Given the description of an element on the screen output the (x, y) to click on. 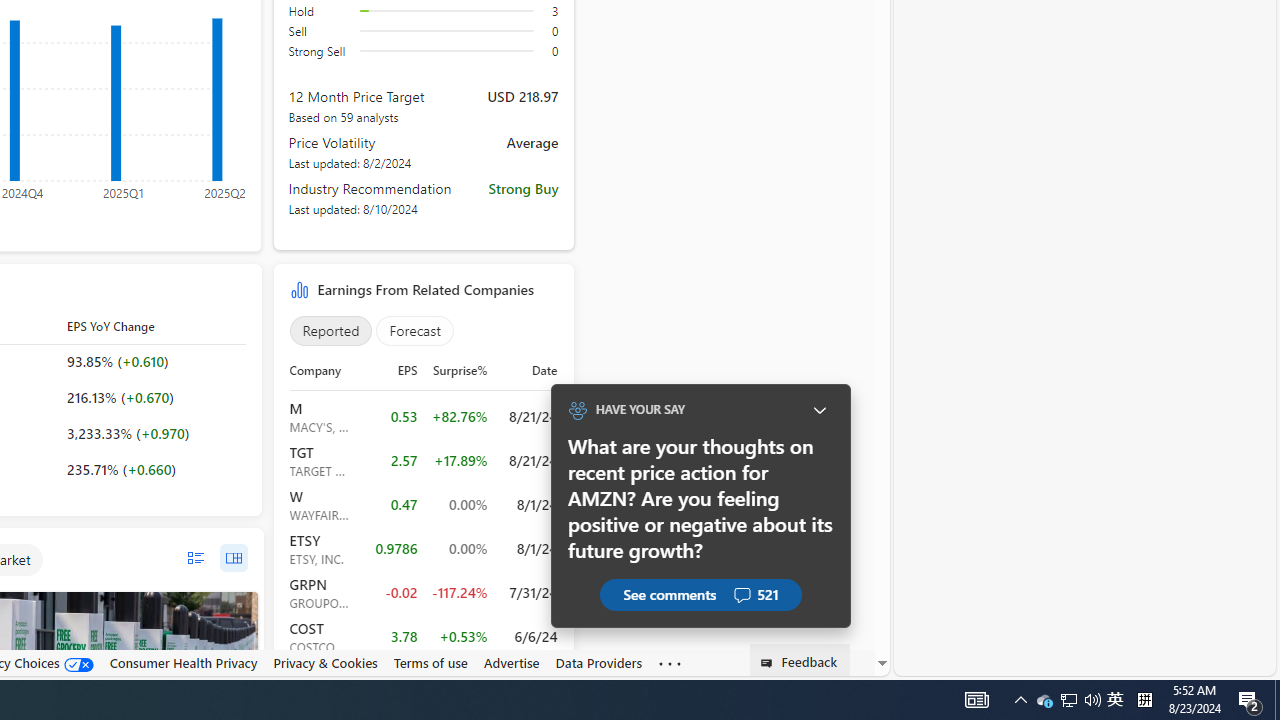
Class: feedback_link_icon-DS-EntryPoint1-1 (770, 663)
Data Providers (598, 662)
Privacy & Cookies (324, 663)
Terms of use (430, 662)
Privacy & Cookies (324, 662)
grid layout (233, 557)
Reported (330, 331)
